Given the description of an element on the screen output the (x, y) to click on. 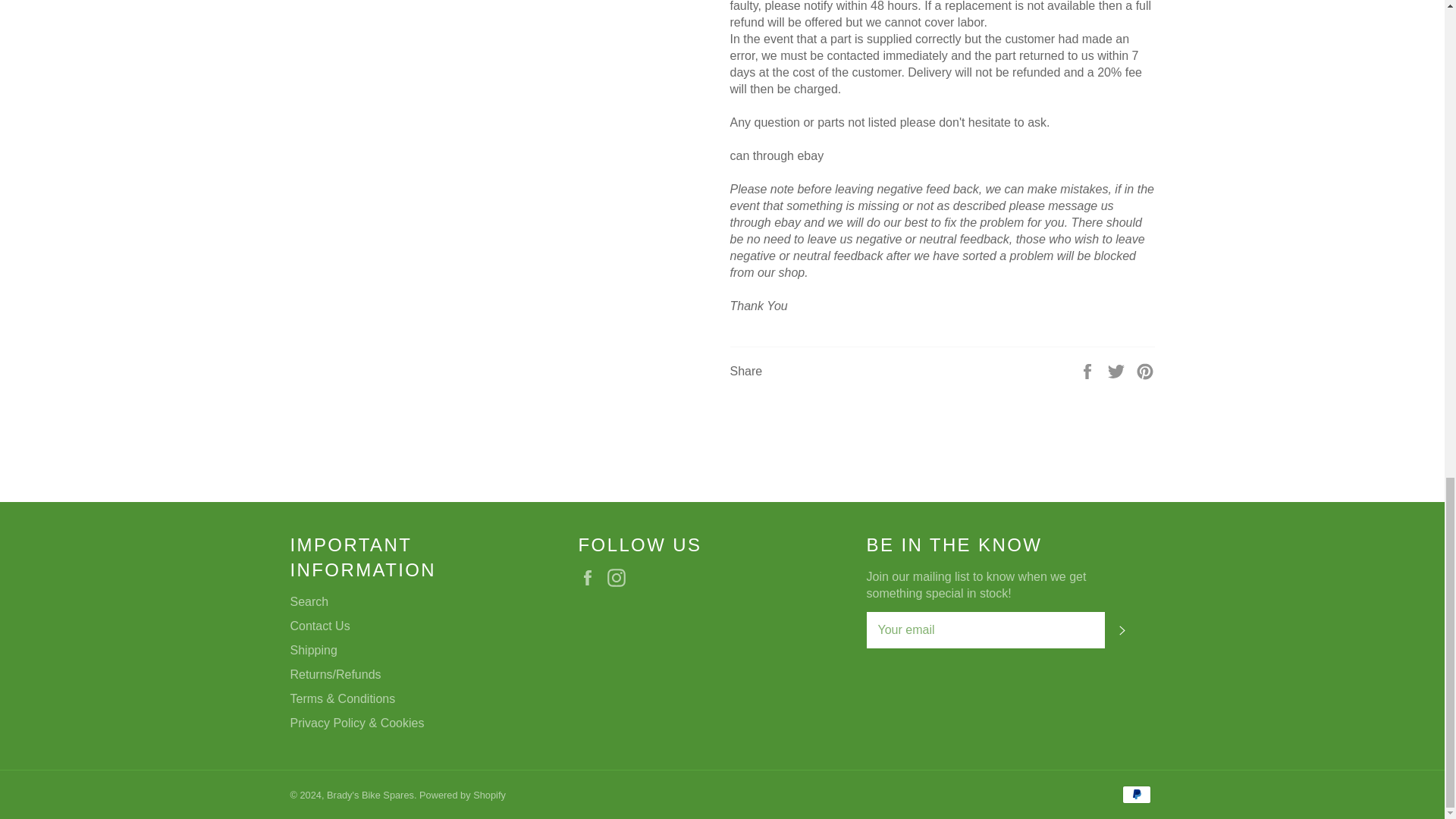
Brady's Bike Spares on Facebook (591, 577)
Tweet on Twitter (1117, 369)
Share on Facebook (1088, 369)
Brady's Bike Spares on Instagram (620, 577)
Pin on Pinterest (1144, 369)
